Given the description of an element on the screen output the (x, y) to click on. 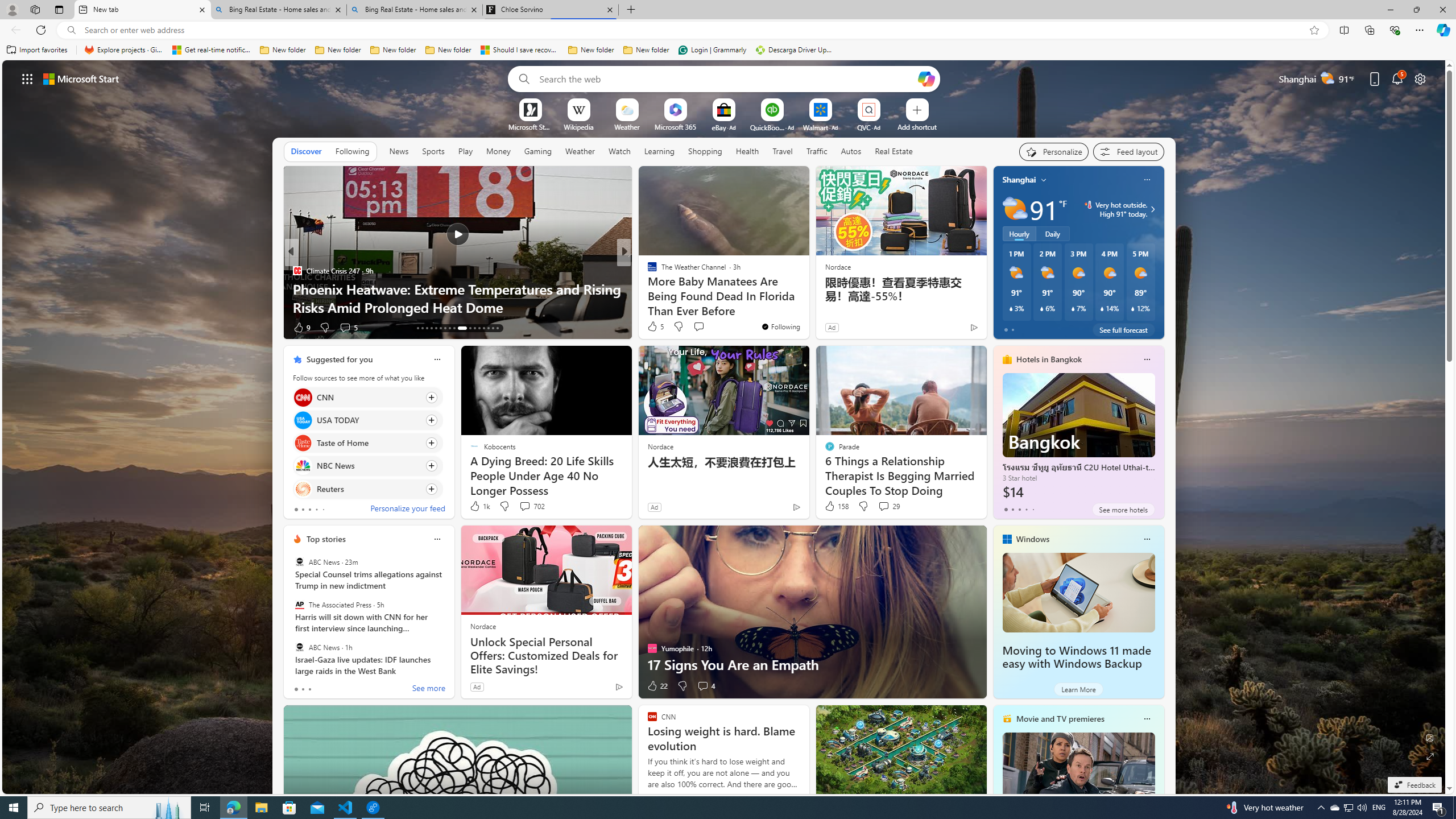
The Verge (647, 270)
Expand background (1430, 756)
Descarga Driver Updater (794, 49)
AutomationID: tab-13 (417, 328)
Page settings (1420, 78)
Top stories (325, 538)
Nordace.com (663, 288)
Wikipedia (578, 126)
